Given the description of an element on the screen output the (x, y) to click on. 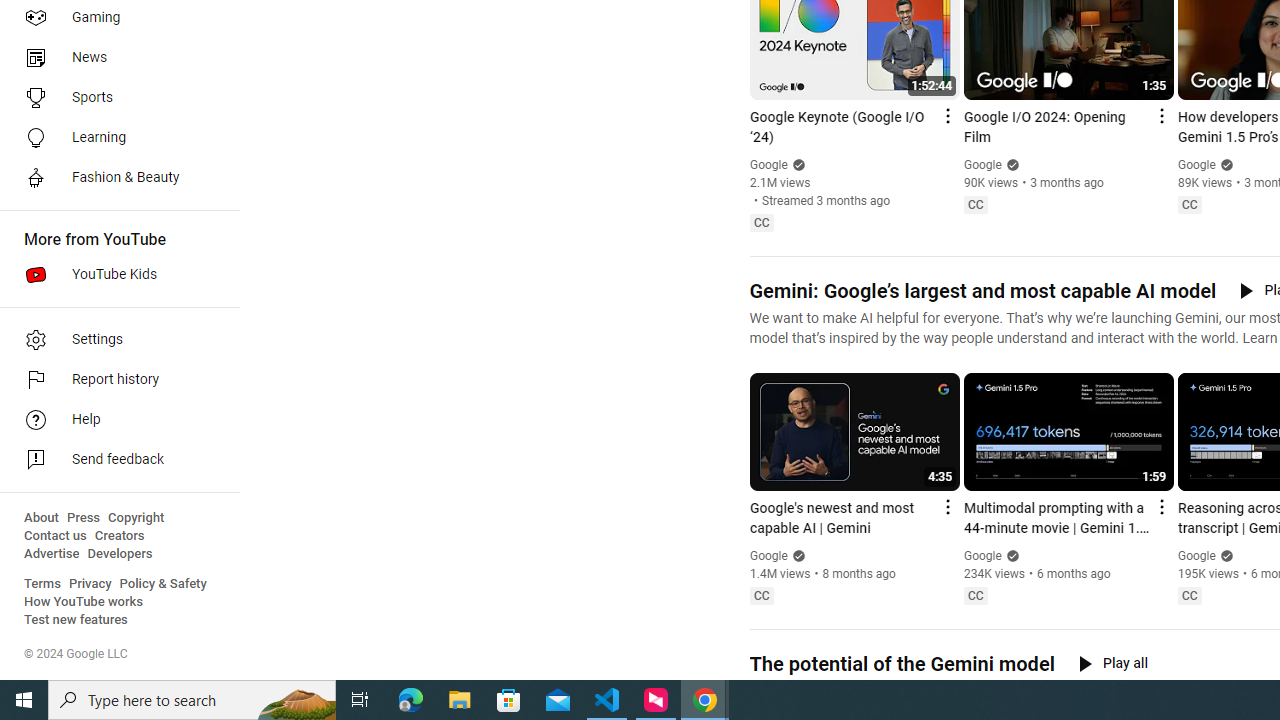
Help (113, 419)
Sports (113, 97)
